Given the description of an element on the screen output the (x, y) to click on. 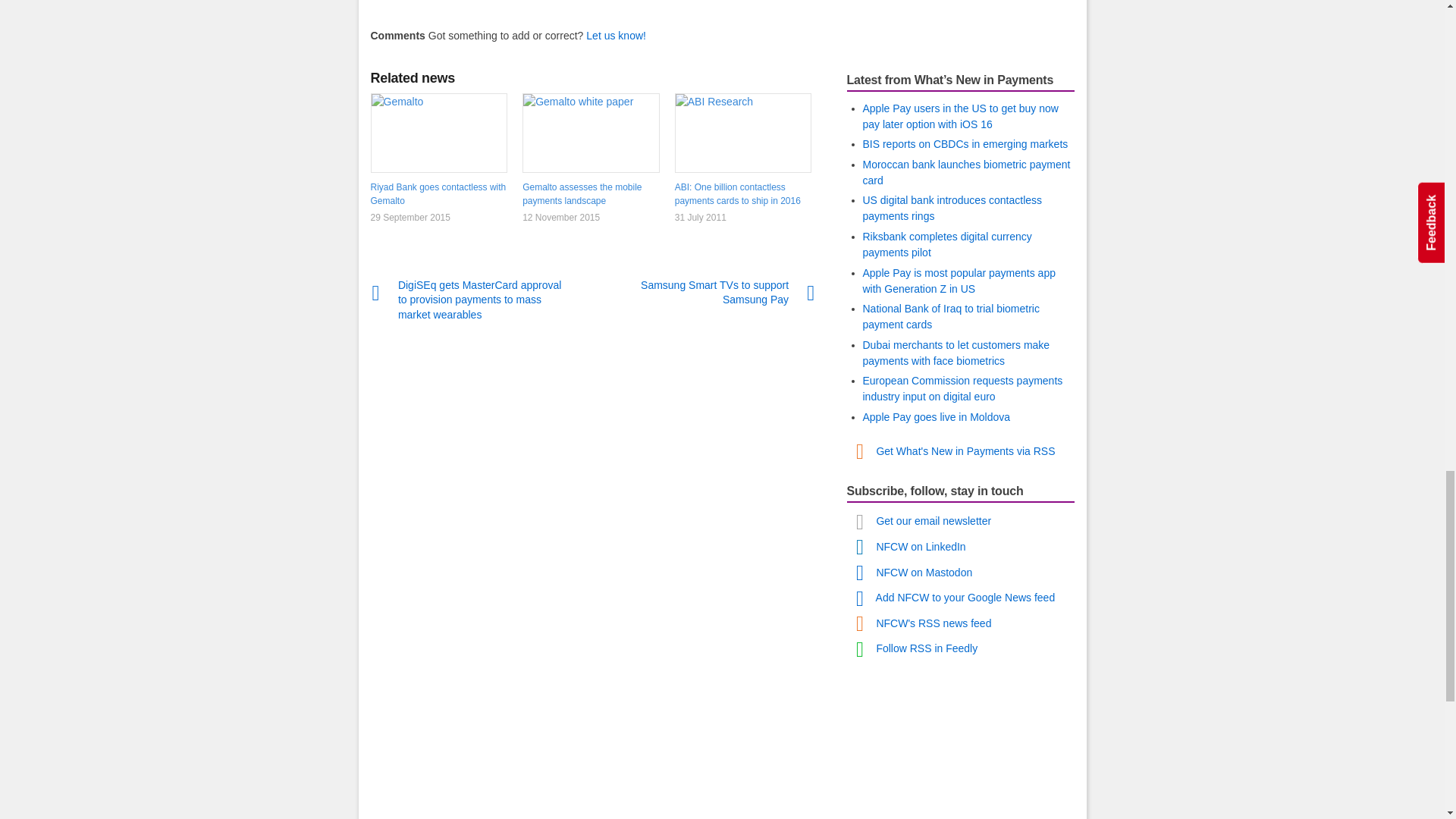
Gemalto assesses the mobile payments landscape (590, 194)
Riyad Bank goes contactless with Gemalto (437, 132)
Riyad Bank goes contactless with Gemalto (437, 194)
Gemalto assesses the mobile payments landscape (590, 132)
